Given the description of an element on the screen output the (x, y) to click on. 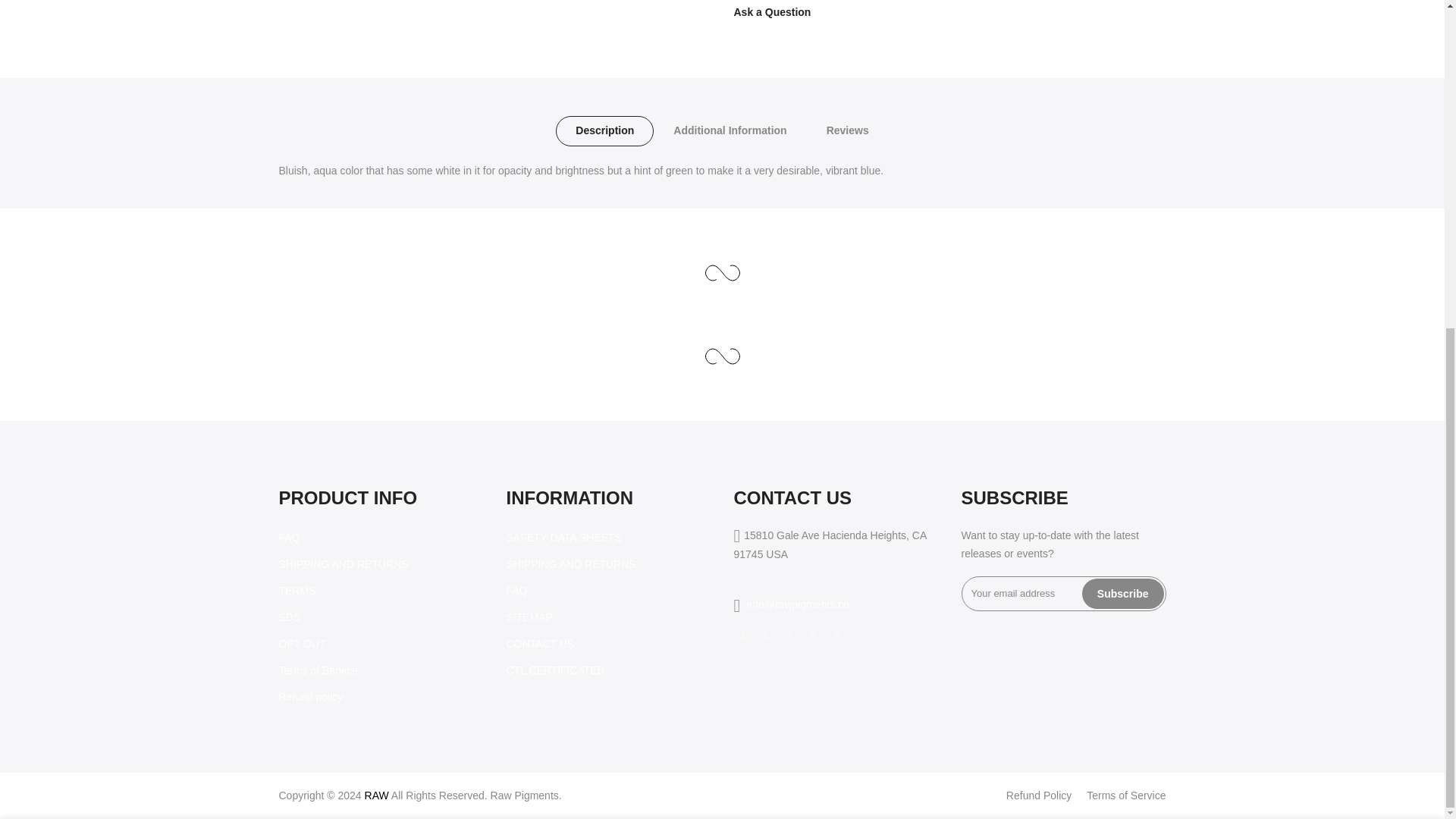
OPT OUT (302, 644)
SHIPPING AND RETURNS (344, 563)
Terms of Service (318, 670)
1 (1001, 313)
Description (604, 131)
Additional Information (729, 131)
FAQ (516, 590)
SDS (290, 616)
SAFETY DATA SHEETS (563, 537)
Reviews (847, 131)
